Given the description of an element on the screen output the (x, y) to click on. 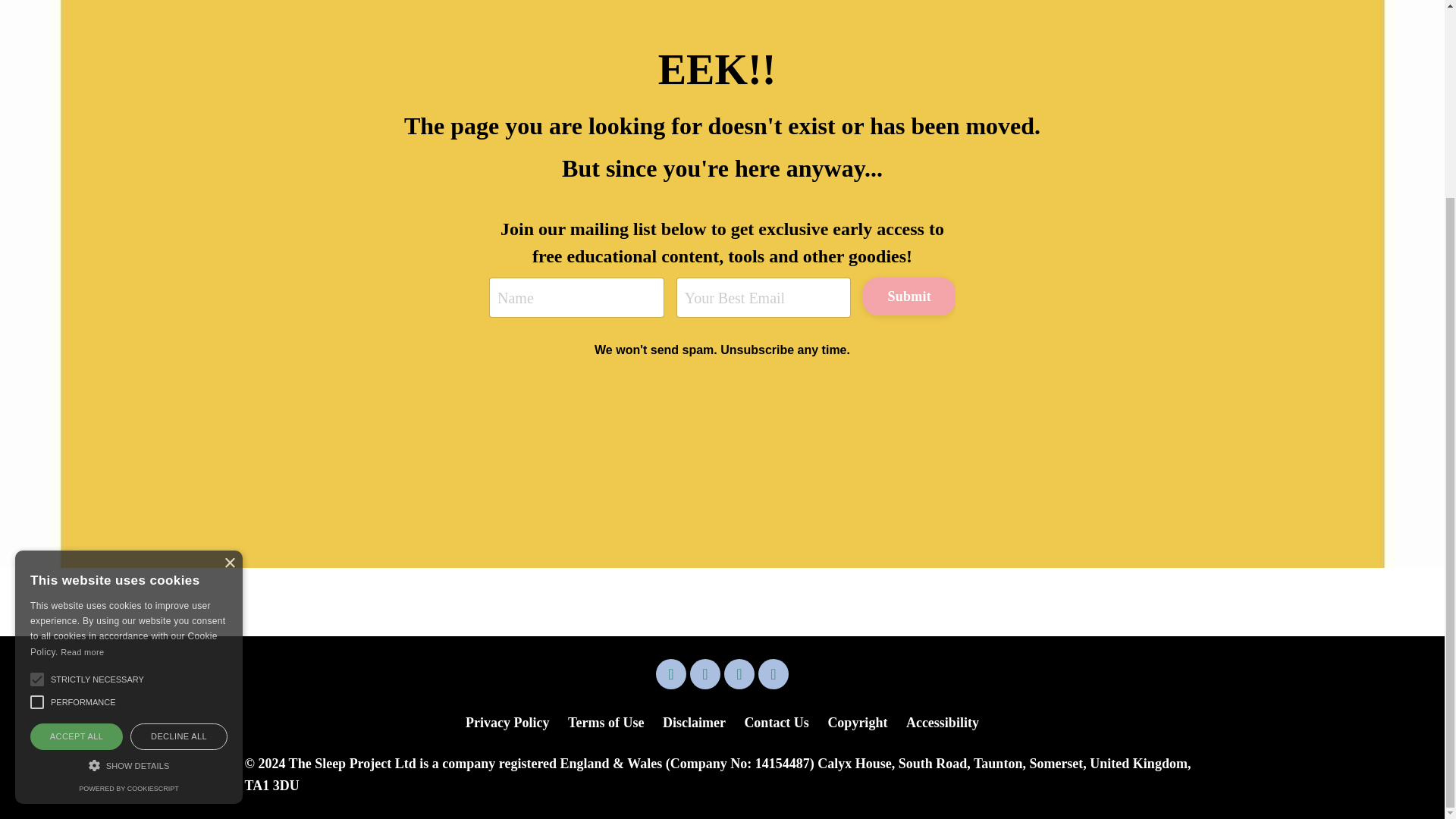
Submit (909, 296)
Disclaimer (693, 722)
Terms of Use (605, 722)
Accessibility (941, 722)
Privacy Policy (506, 722)
Contact Us (776, 722)
Copyright (856, 722)
Read more (82, 400)
Consent Management Platform (127, 537)
POWERED BY COOKIESCRIPT (127, 537)
